Given the description of an element on the screen output the (x, y) to click on. 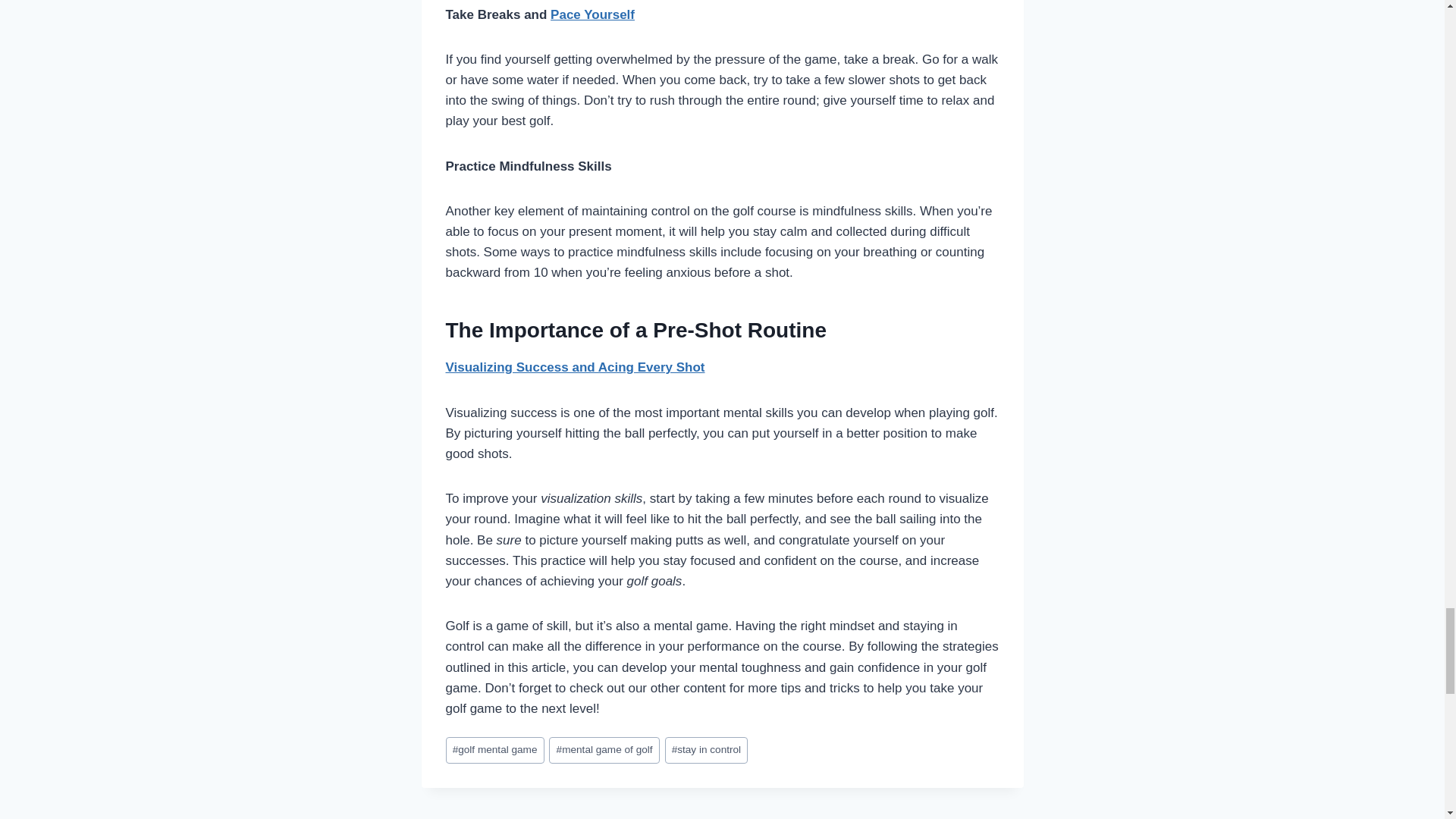
mental game of golf (603, 750)
Pace Yourself (592, 14)
golf mental game (494, 750)
stay in control (706, 750)
Visualizing Success and Acing Every Shot (574, 367)
